Given the description of an element on the screen output the (x, y) to click on. 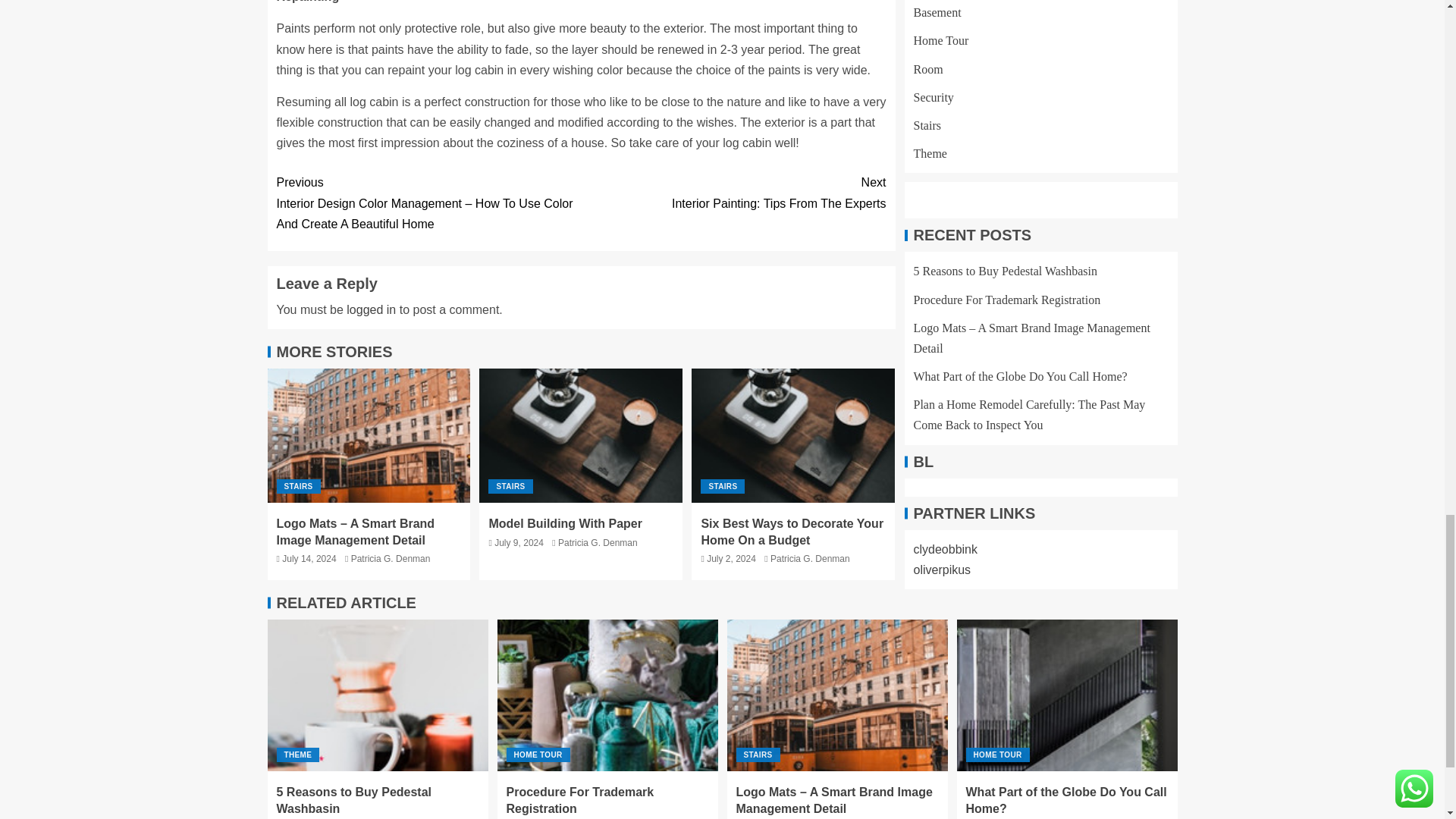
Model Building With Paper (564, 522)
STAIRS (722, 486)
What Part of the Globe Do You Call Home? (1066, 695)
Patricia G. Denman (390, 558)
Model Building With Paper (793, 435)
STAIRS (509, 486)
Procedure For Trademark Registration (607, 695)
Six Best Ways to Decorate Your Home On a Budget (791, 531)
Patricia G. Denman (810, 558)
Model Building With Paper (732, 191)
logged in (580, 435)
Patricia G. Denman (371, 309)
STAIRS (597, 542)
5 Reasons to Buy Pedestal Washbasin (298, 486)
